Given the description of an element on the screen output the (x, y) to click on. 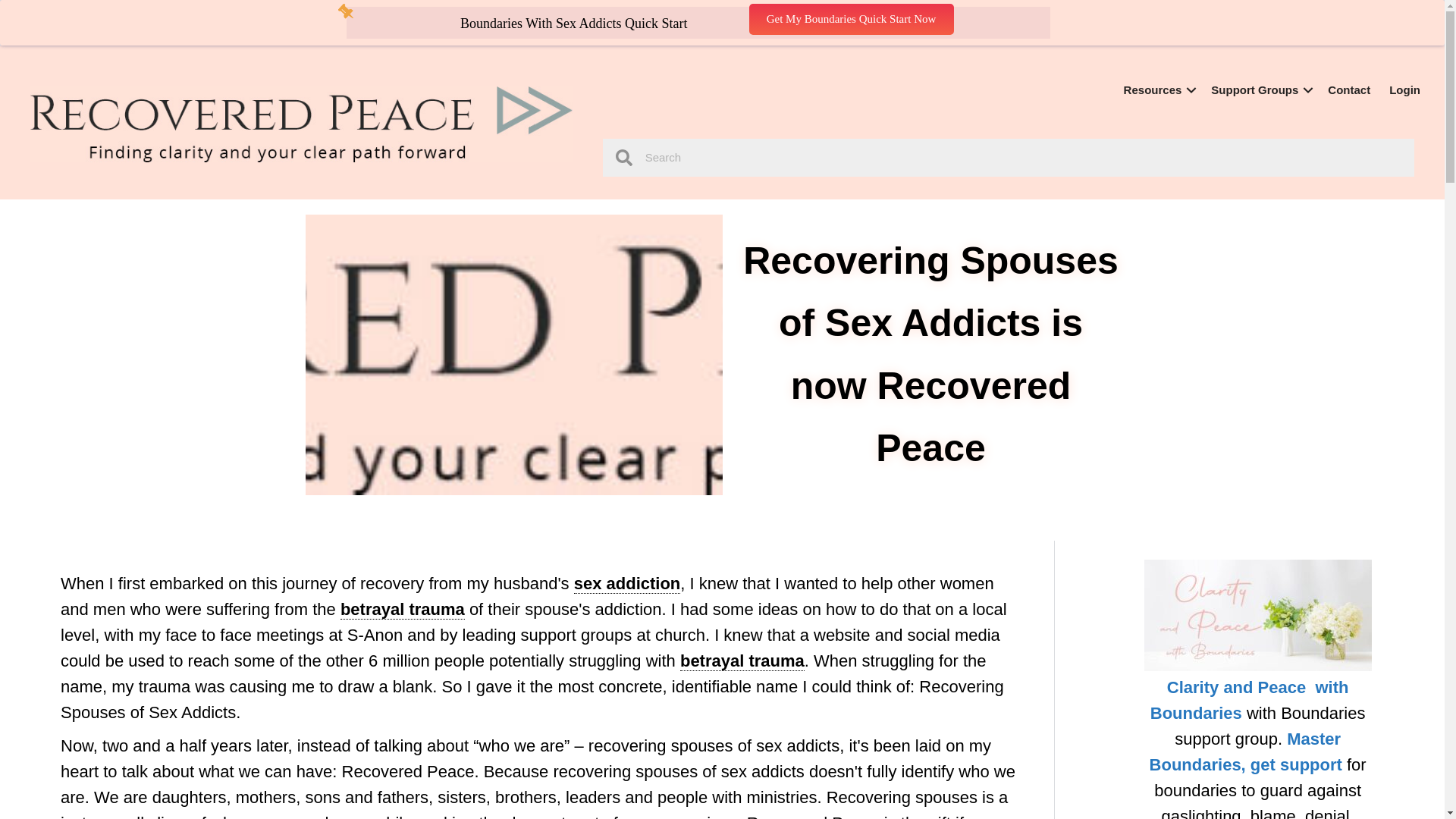
sex addiction (627, 583)
Login (1404, 89)
Search (1022, 157)
Support Groups (1259, 89)
Resources (1158, 89)
betrayal trauma (402, 609)
betrayal trauma (742, 660)
Master Boundaries, get support (1246, 751)
logo2 (301, 124)
Clarity and Peace  with Boundaries (1249, 700)
Contact (1348, 89)
